Given the description of an element on the screen output the (x, y) to click on. 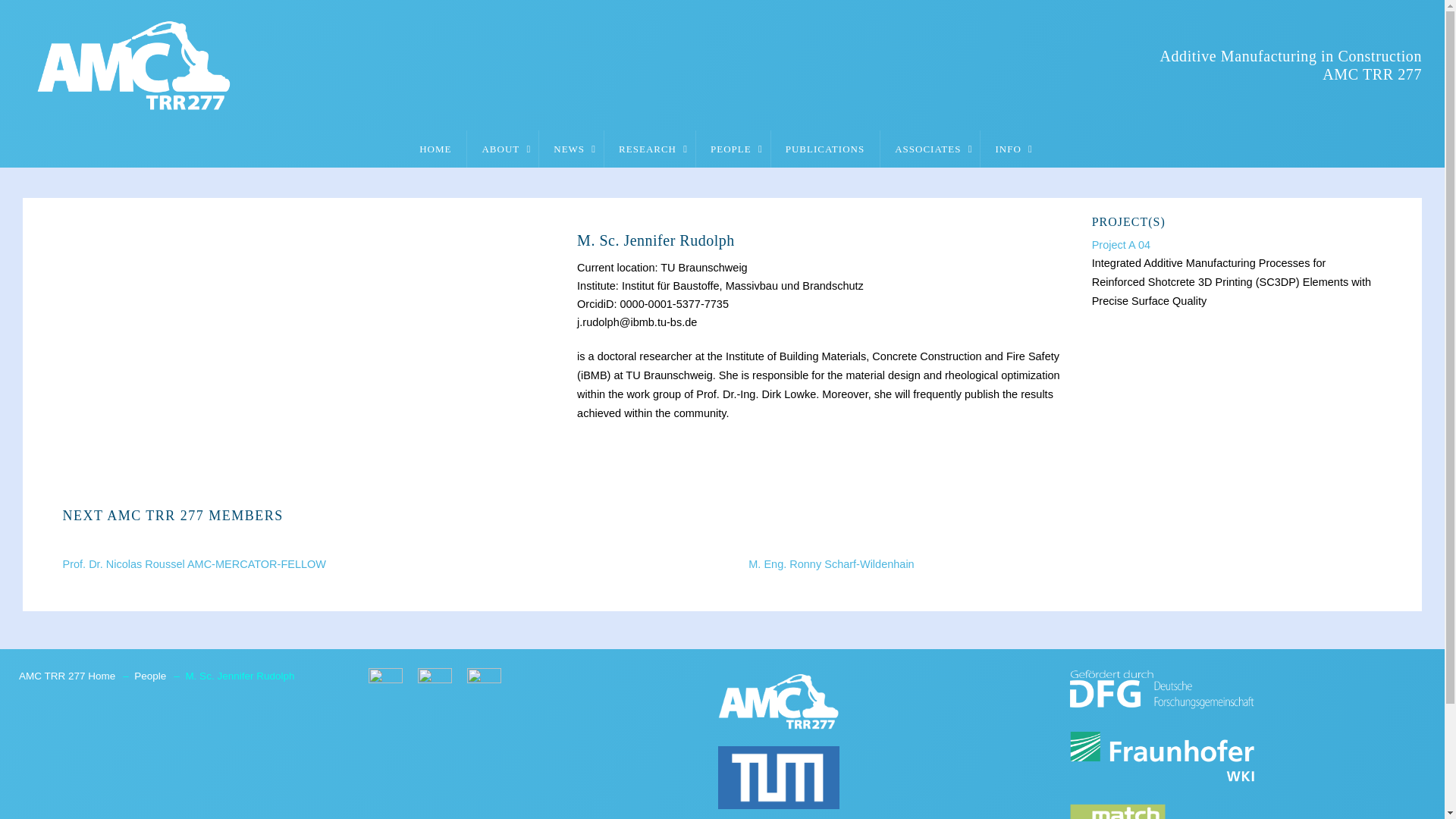
RESEARCH (649, 148)
Go to People. (153, 675)
HOME (434, 148)
ABOUT (501, 148)
